Given the description of an element on the screen output the (x, y) to click on. 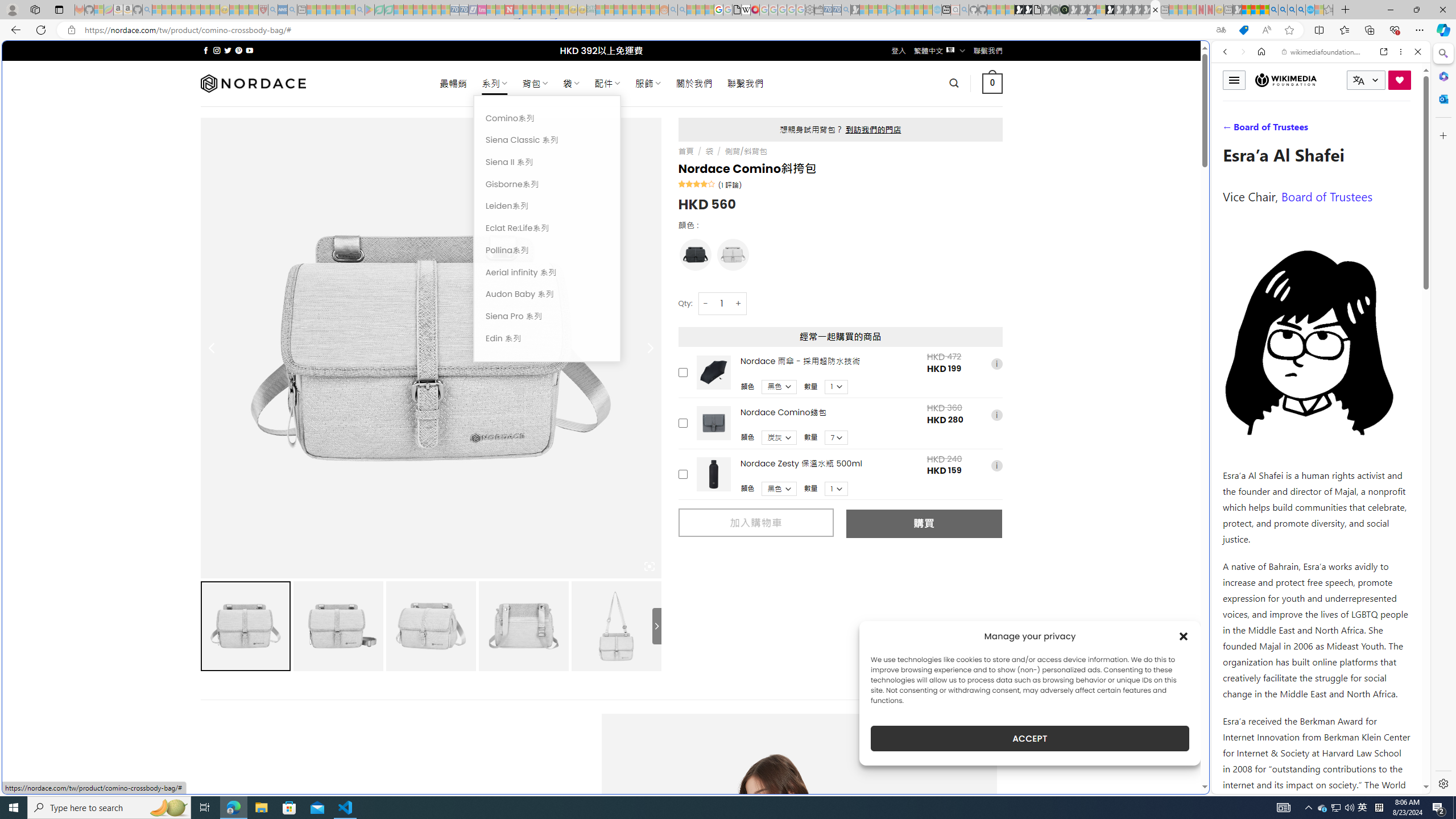
Robert H. Shmerling, MD - Harvard Health - Sleeping (263, 9)
- (705, 303)
MediaWiki (754, 9)
Class: cmplz-close (1183, 636)
Nordace (252, 83)
